Given the description of an element on the screen output the (x, y) to click on. 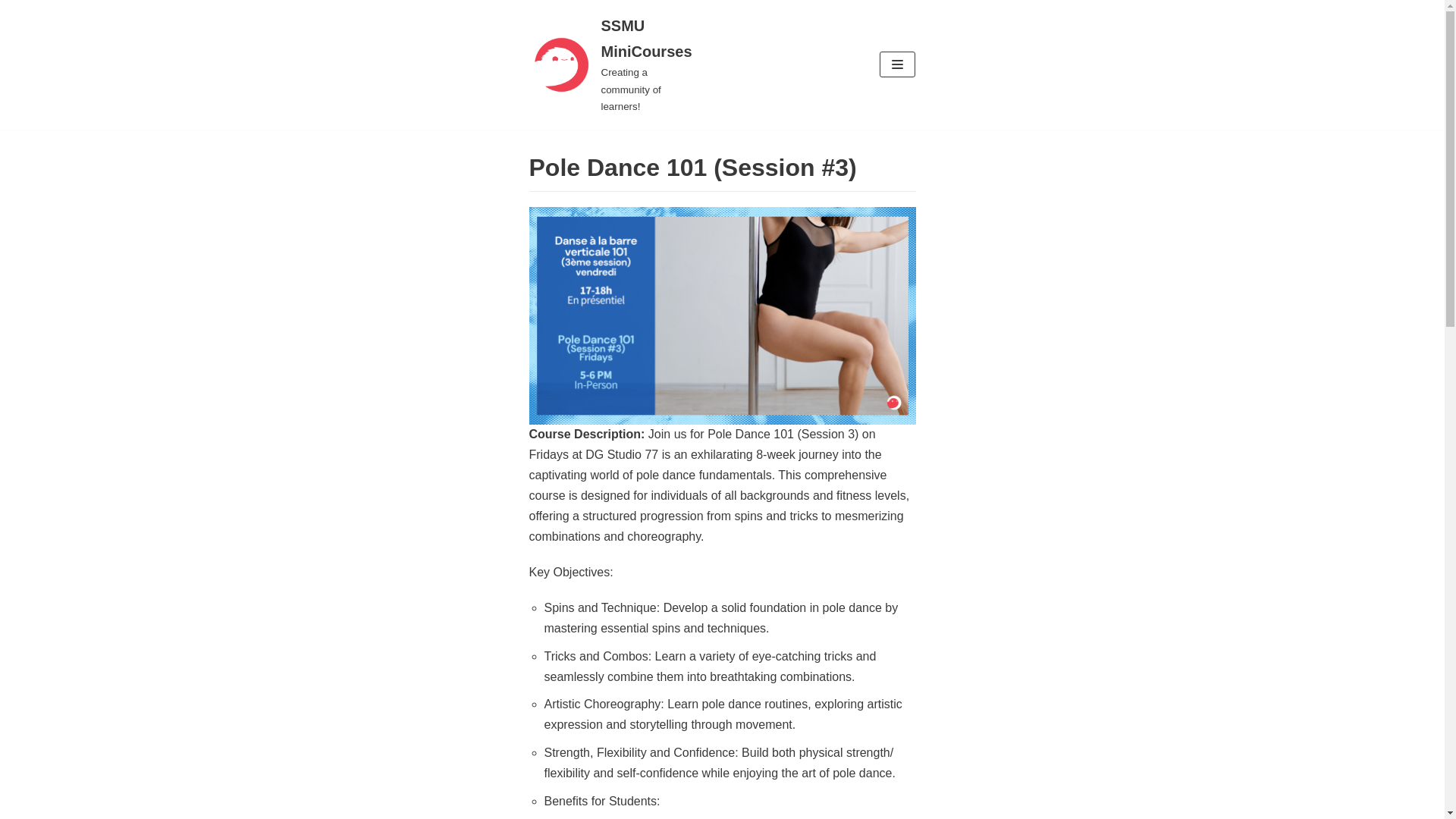
SSMU MiniCourses (611, 64)
Skip to content (15, 31)
